Given the description of an element on the screen output the (x, y) to click on. 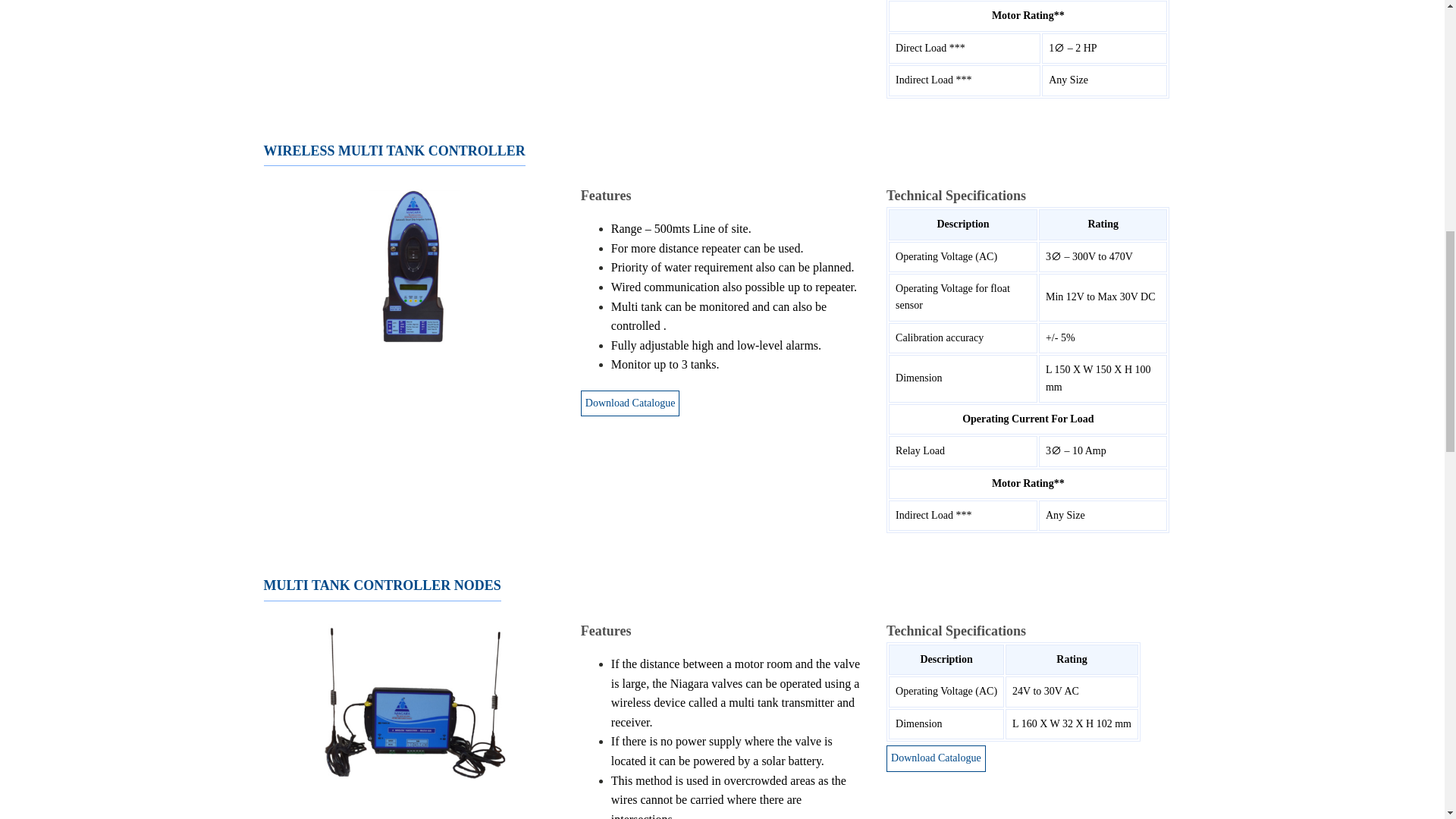
Download Catalogue (629, 403)
Download Catalogue (935, 758)
